Given the description of an element on the screen output the (x, y) to click on. 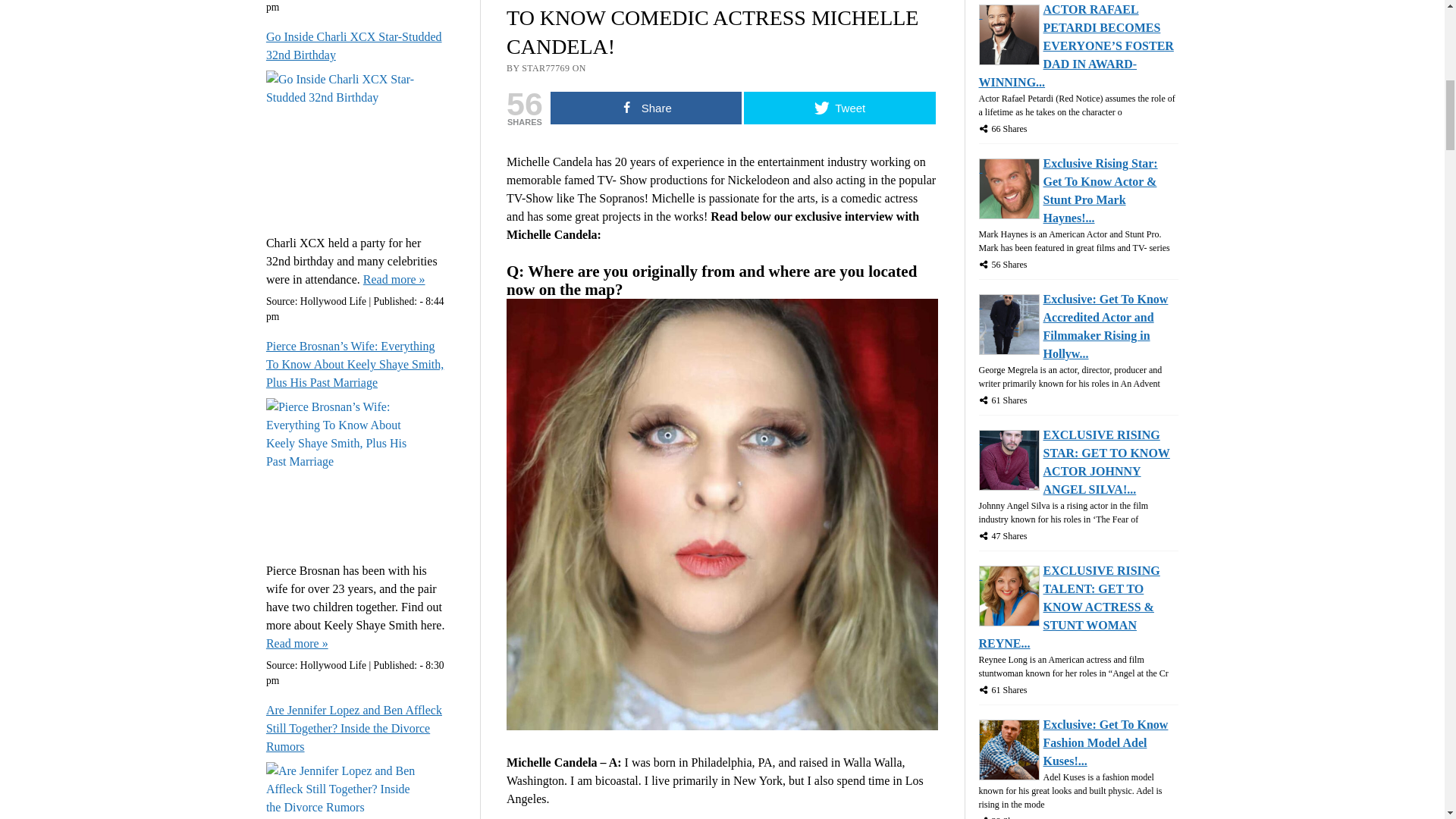
Go Inside Charli XCX Star-Studded 32nd Birthday (393, 280)
Go Inside Charli XCX Star-Studded 32nd Birthday (357, 45)
Go Inside Charli XCX Star-Studded 32nd Birthday (357, 45)
